Given the description of an element on the screen output the (x, y) to click on. 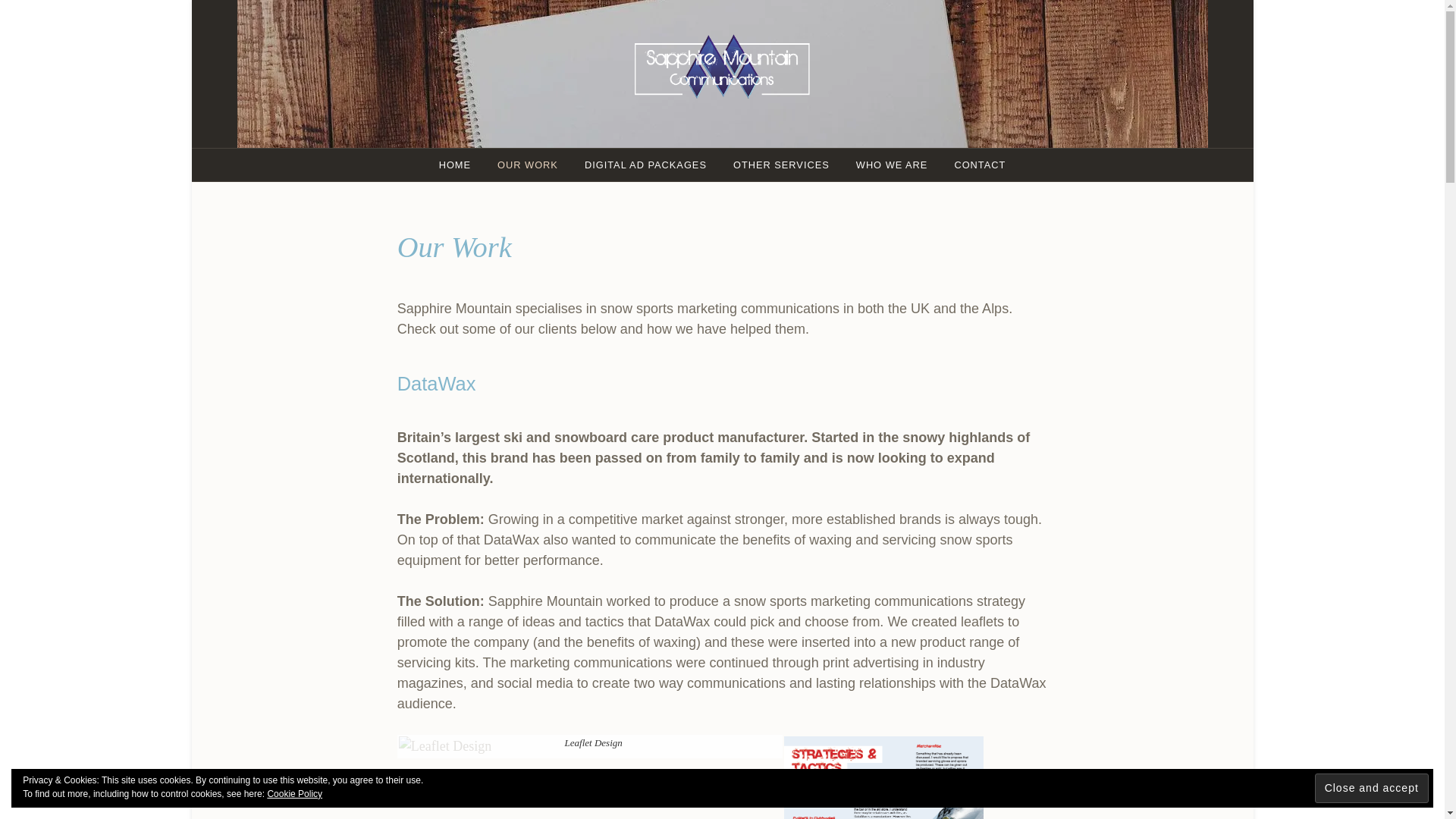
SAPPHIRE MOUNTAIN (768, 147)
OTHER SERVICES (781, 164)
Close and accept (1371, 788)
HOME (454, 164)
OUR WORK (527, 164)
WHO WE ARE (891, 164)
CONTACT (979, 164)
Leaflet Design (445, 746)
DIGITAL AD PACKAGES (645, 164)
Close and accept (1371, 788)
Sapphire Mountain (768, 147)
Cookie Policy (293, 793)
Strategic Analysis (884, 777)
